Given the description of an element on the screen output the (x, y) to click on. 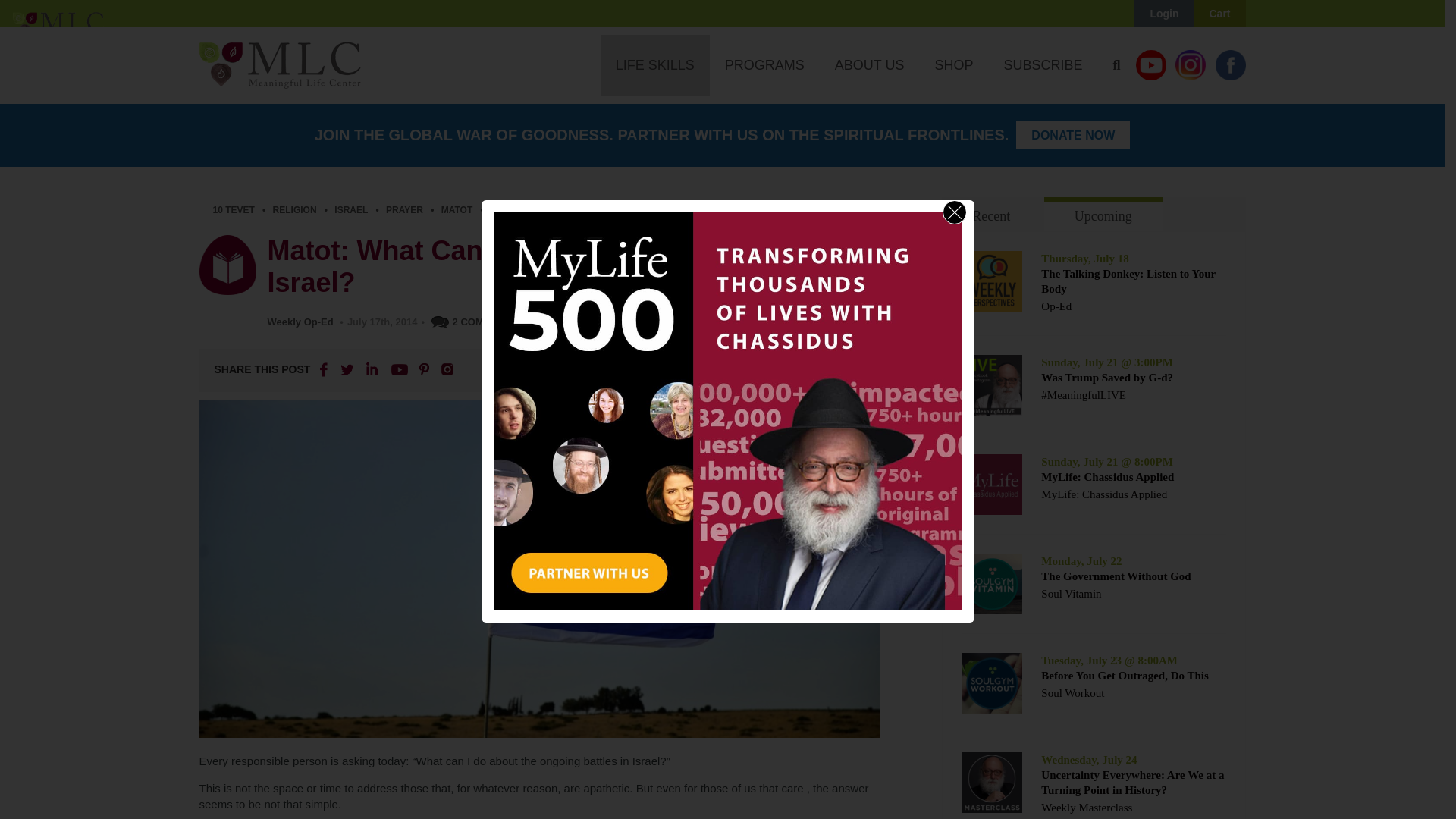
PROGRAMS (764, 65)
Login (1163, 13)
Cart (1218, 13)
LIFE SKILLS (654, 65)
